Given the description of an element on the screen output the (x, y) to click on. 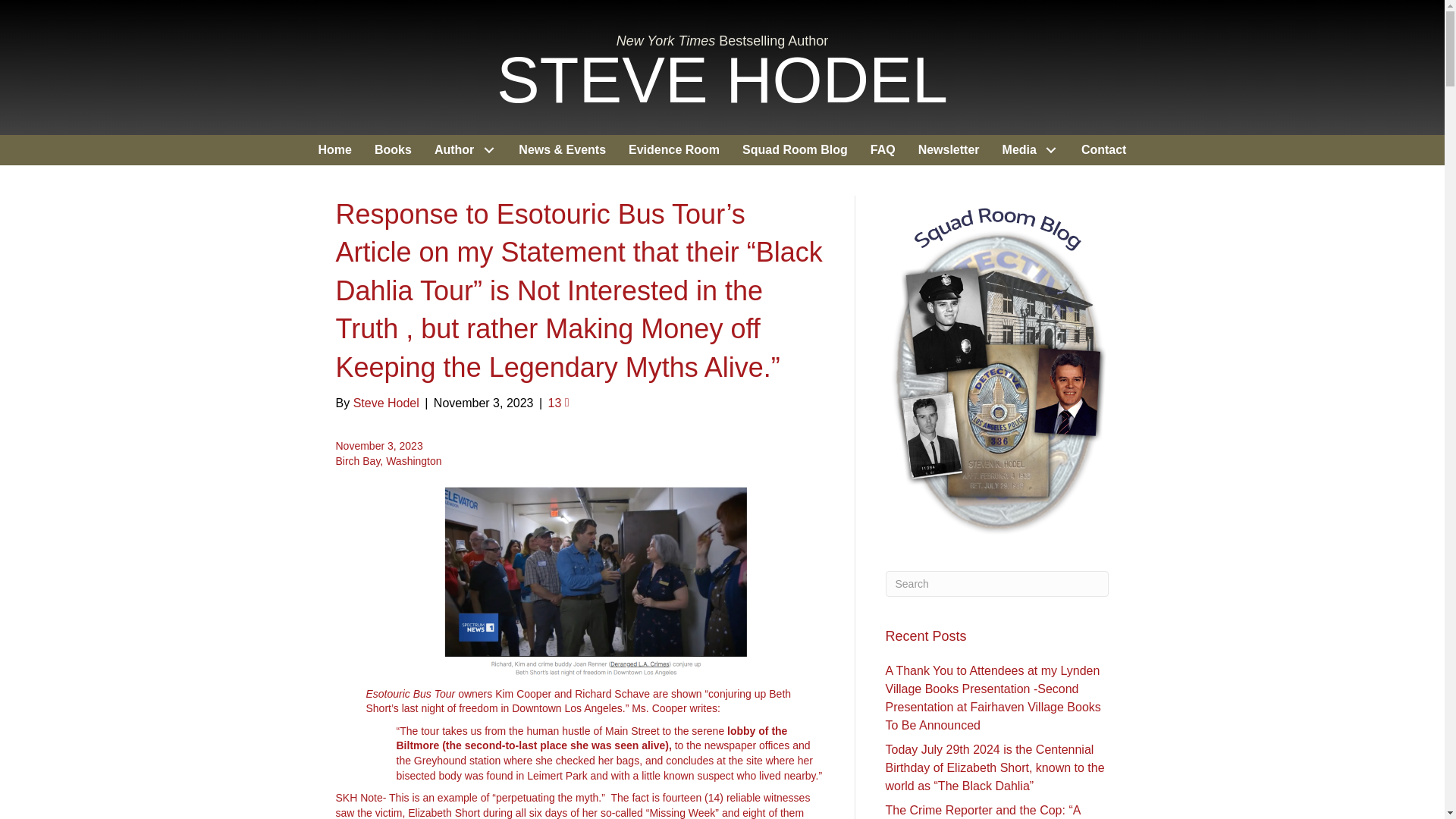
Home (334, 150)
13 (558, 402)
Author (464, 150)
Evidence Room (673, 150)
Newsletter (949, 150)
FAQ (883, 150)
Books (392, 150)
Squad Room Blog (794, 150)
Contact (1104, 150)
Steve Hodel (386, 402)
Media (1030, 150)
Type and press Enter to search. (997, 583)
